Given the description of an element on the screen output the (x, y) to click on. 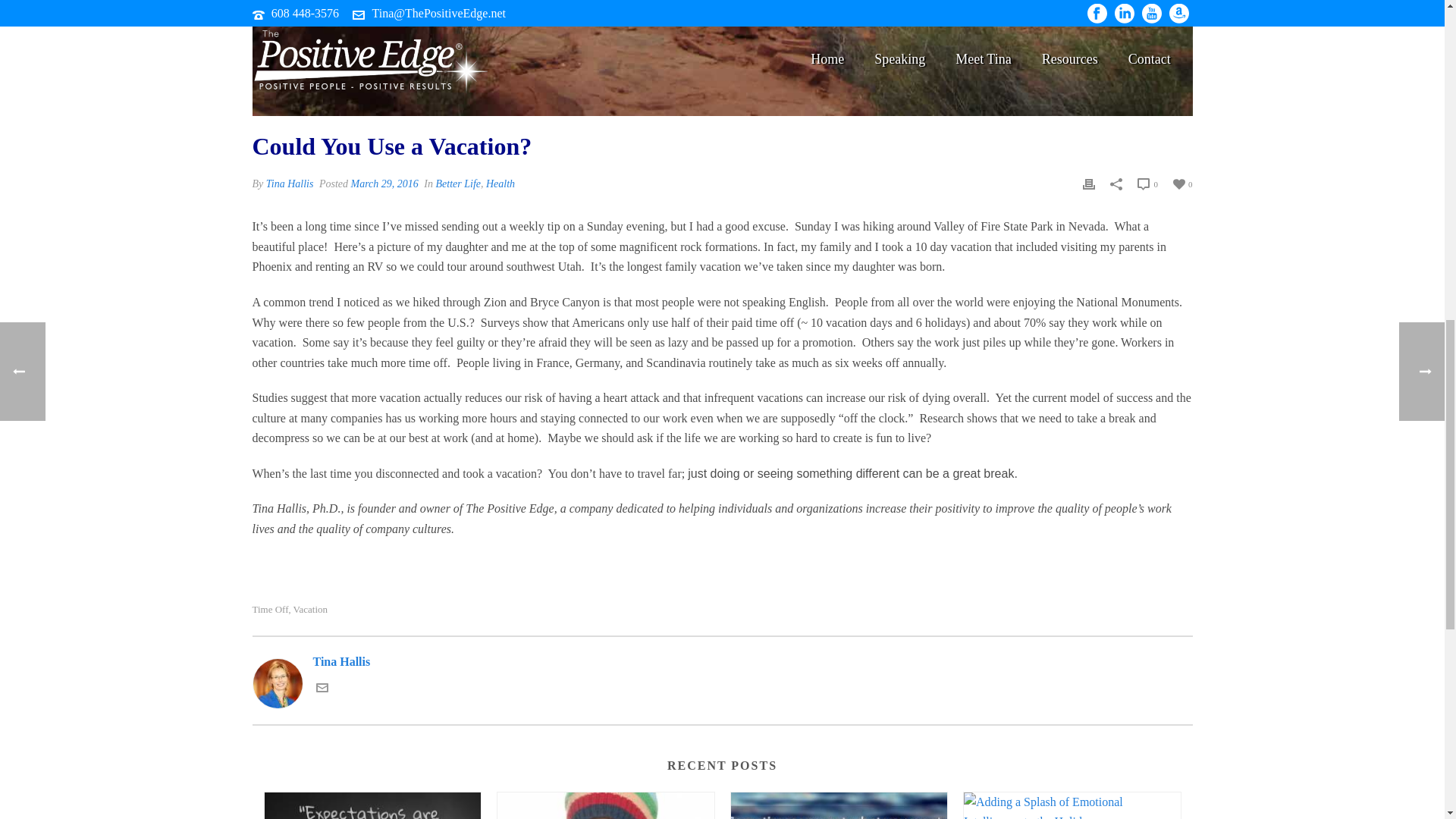
Could You Use a Vacation? (721, 58)
Get in touch with me via email (321, 689)
Want Less Stress? Three Common Truths We Commonly Forget (605, 805)
Posts by Tina Hallis (290, 183)
